Given the description of an element on the screen output the (x, y) to click on. 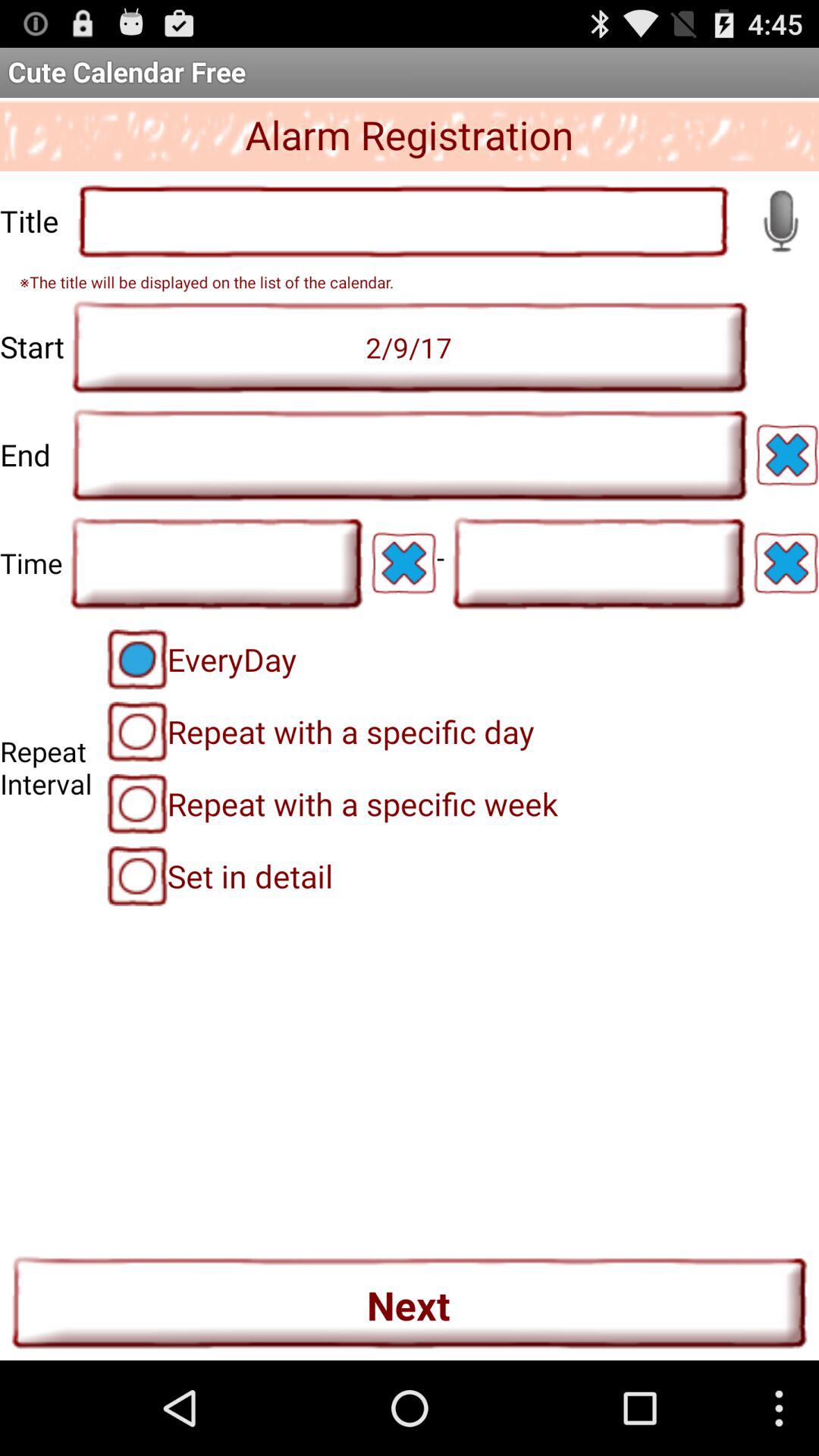
add alarm title (403, 221)
